Given the description of an element on the screen output the (x, y) to click on. 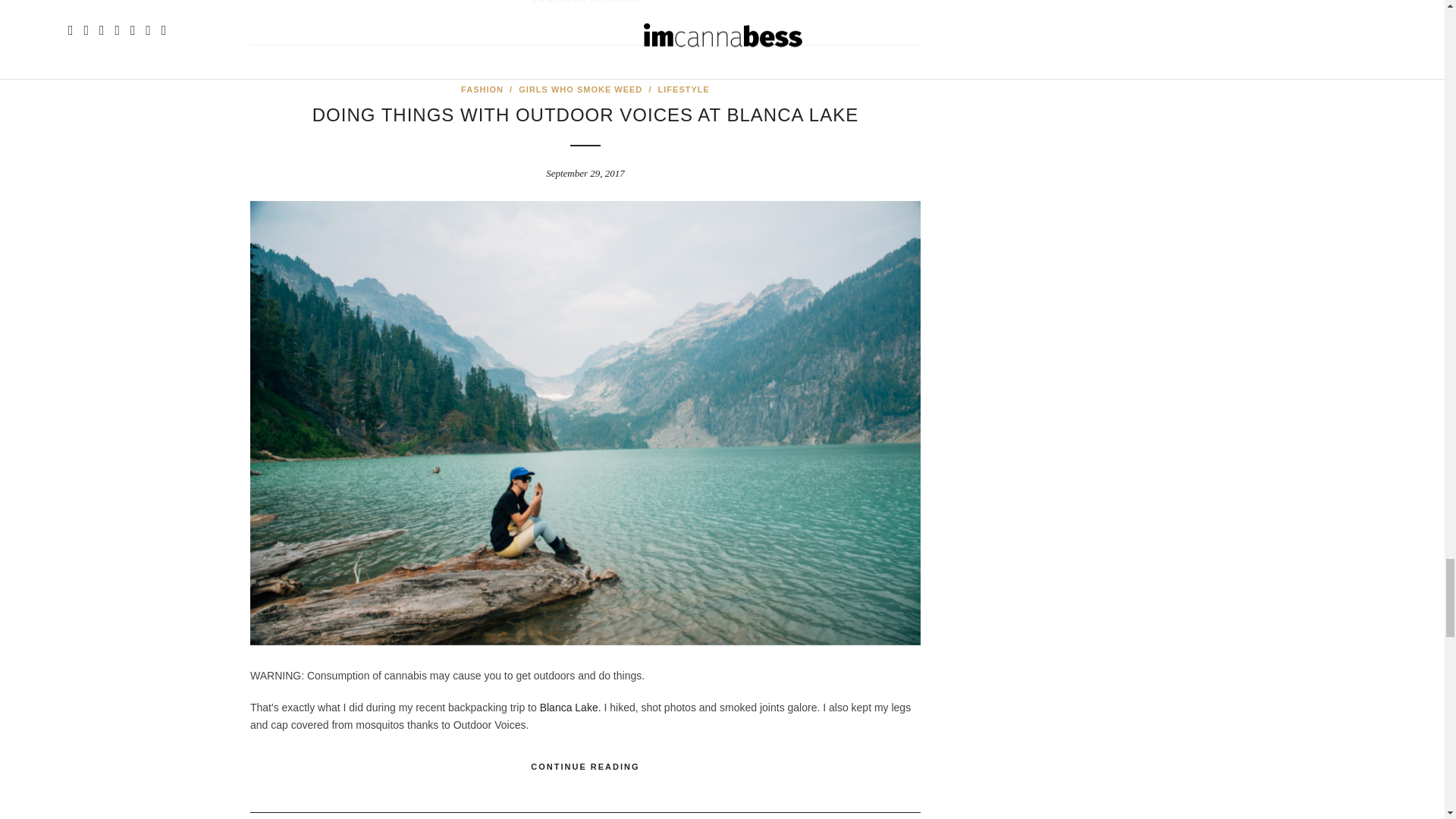
Doing Things with Outdoor Voices at Blanca Lake (586, 114)
